Given the description of an element on the screen output the (x, y) to click on. 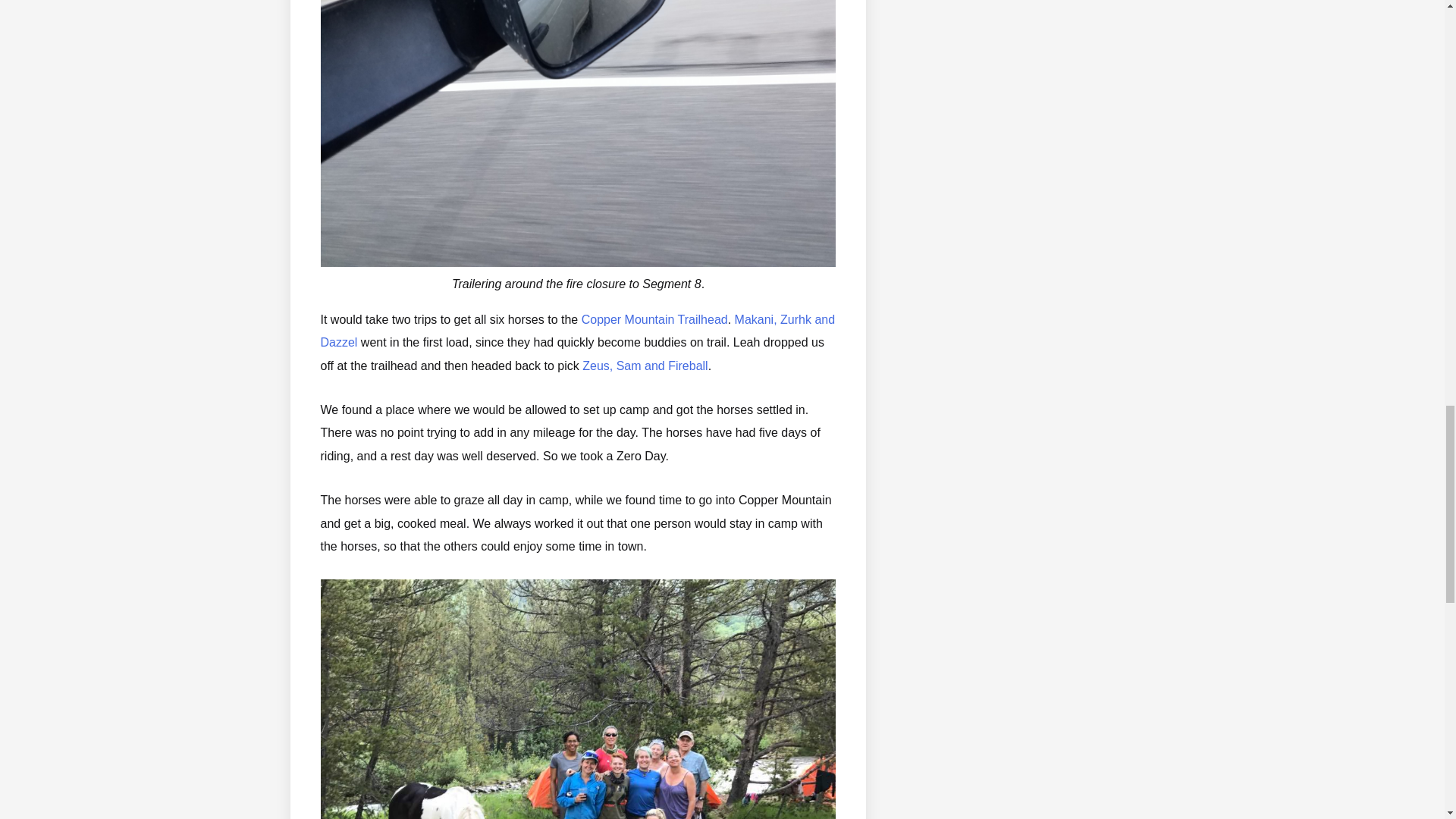
Copper Mountain Trailhead (654, 318)
Zeus, Sam and Fireball (644, 365)
Makani, Zurhk and Dazzel (577, 330)
